Given the description of an element on the screen output the (x, y) to click on. 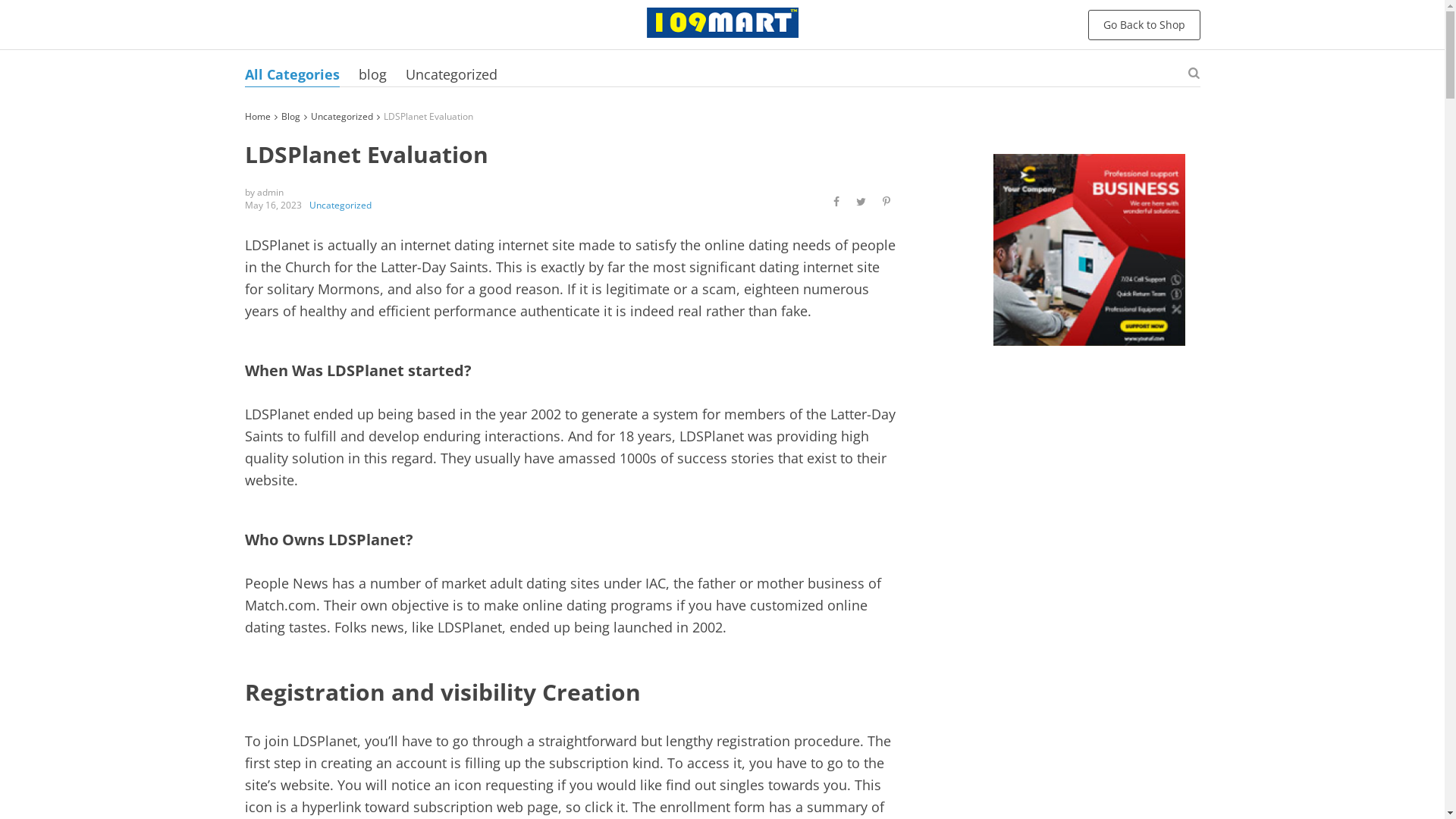
Home Element type: text (256, 116)
All Categories Element type: text (291, 74)
Uncategorized Element type: text (340, 204)
Uncategorized Element type: text (450, 74)
Go Back to Shop Element type: text (1143, 24)
Uncategorized Element type: text (341, 115)
Blog Element type: text (289, 115)
blog Element type: text (371, 74)
